Given the description of an element on the screen output the (x, y) to click on. 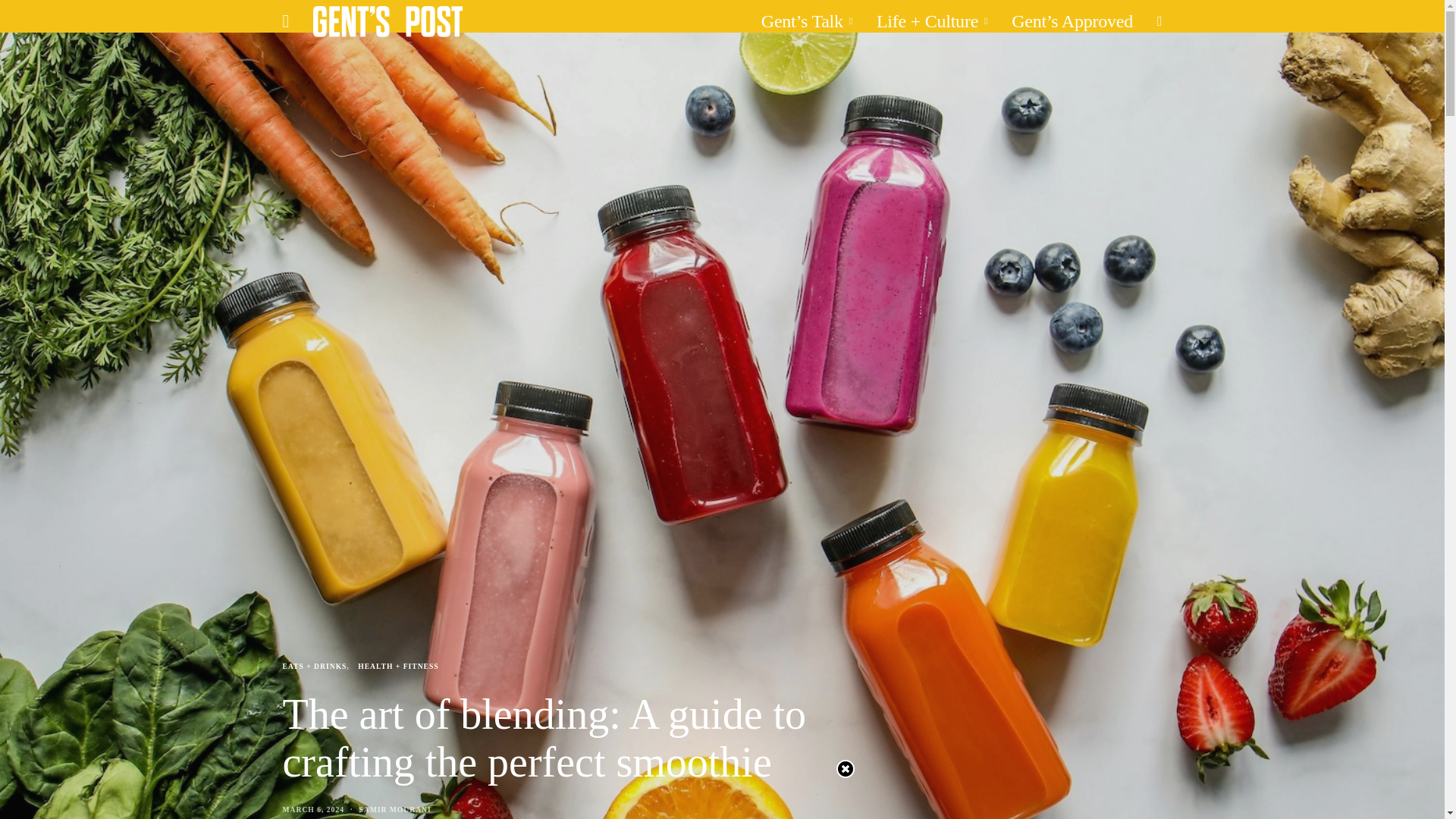
View all posts by Samir Mourani (394, 809)
